Given the description of an element on the screen output the (x, y) to click on. 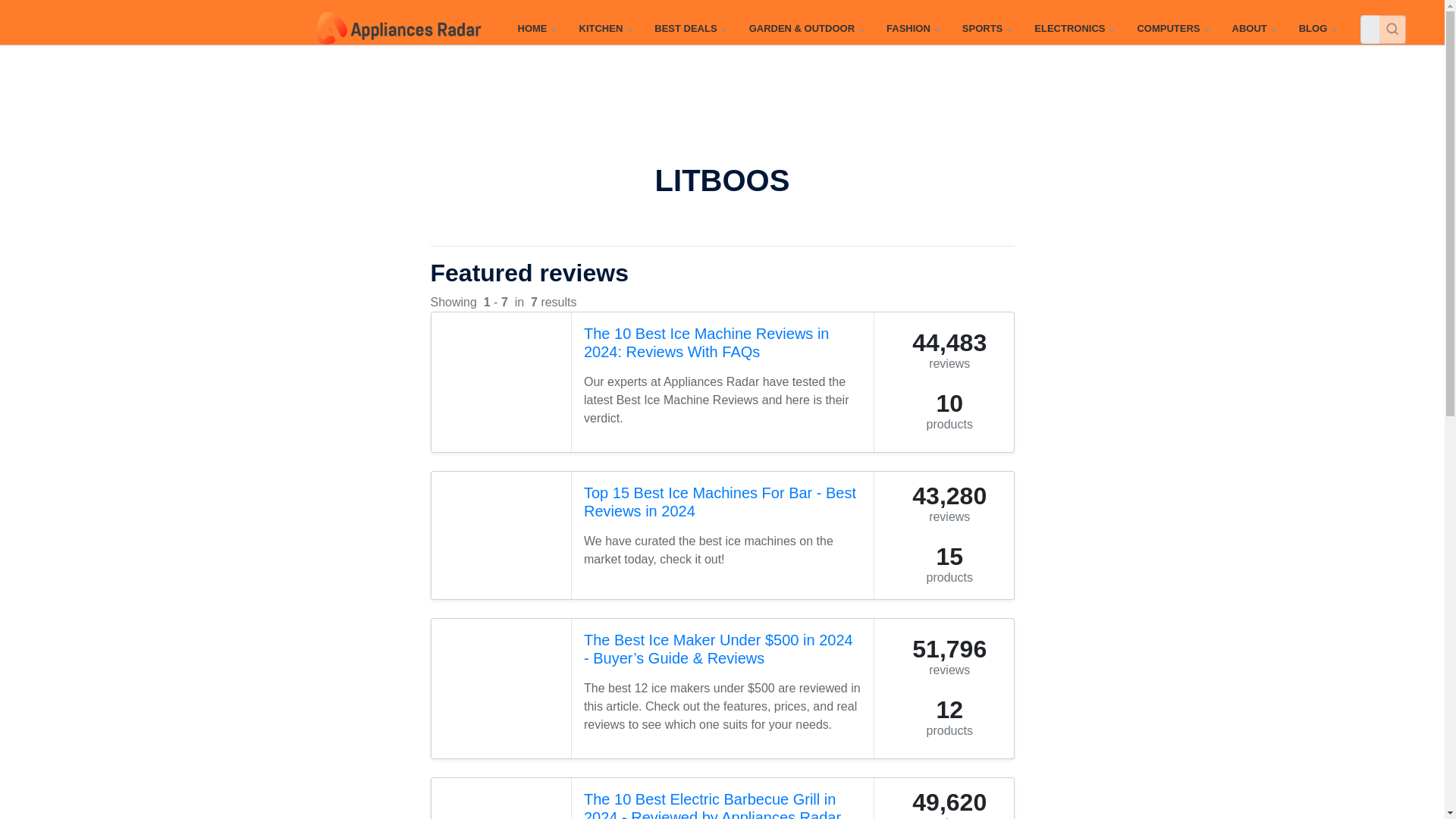
KITCHEN (605, 28)
Home (536, 28)
HOME (536, 28)
